Given the description of an element on the screen output the (x, y) to click on. 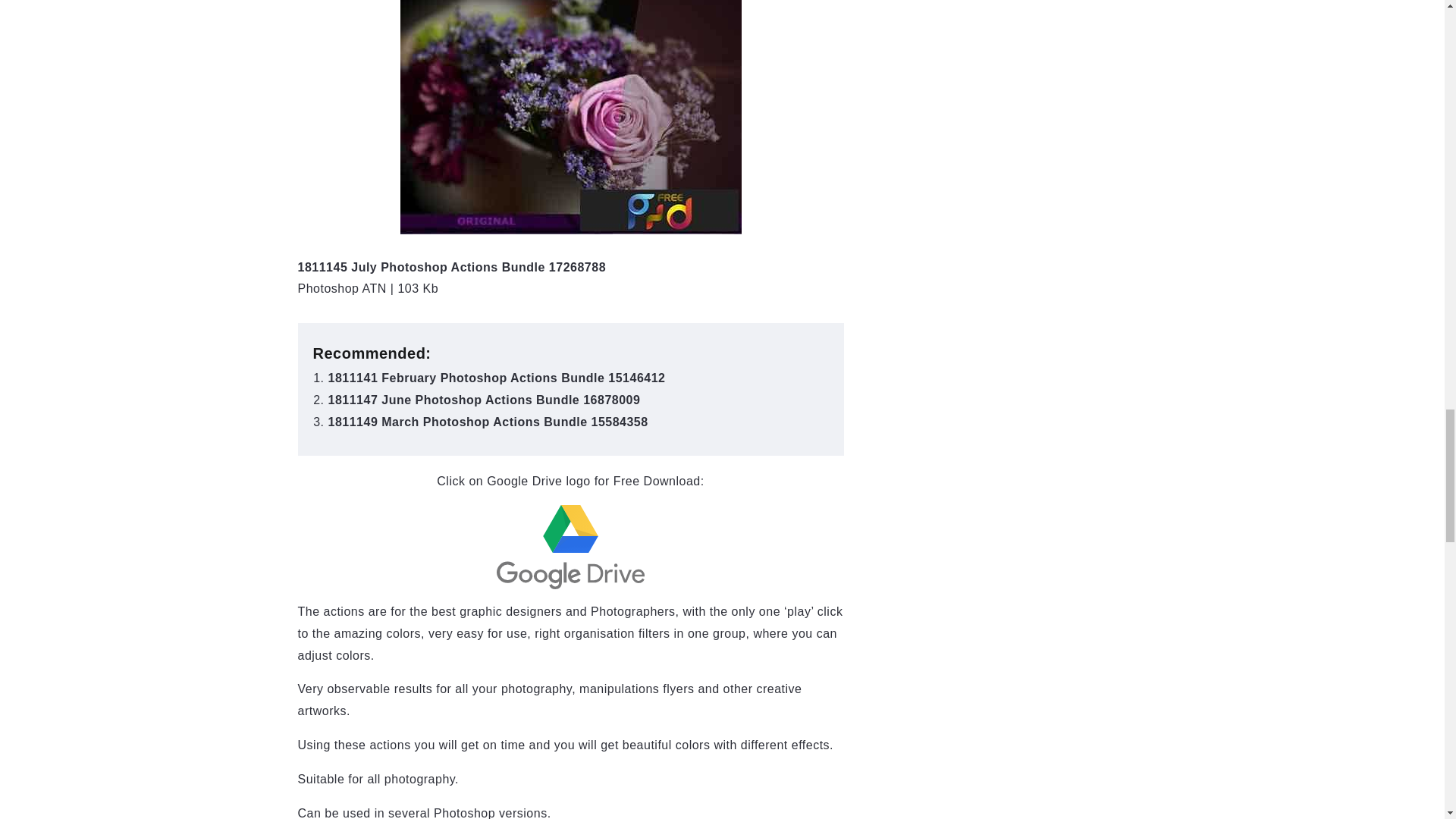
1811147 June Photoshop Actions Bundle 16878009 (483, 399)
1811141 February Photoshop Actions Bundle 15146412 (496, 377)
1811145 July Photoshop Actions Bundle 17268788 1 (570, 116)
1811147 June Photoshop Actions Bundle 16878009 (483, 399)
1811149 March Photoshop Actions Bundle 15584358 (487, 421)
1811145 July Photoshop Actions Bundle 17268788 2 (570, 546)
1811149 March Photoshop Actions Bundle 15584358 (487, 421)
1811141 February Photoshop Actions Bundle 15146412 (496, 377)
